Given the description of an element on the screen output the (x, y) to click on. 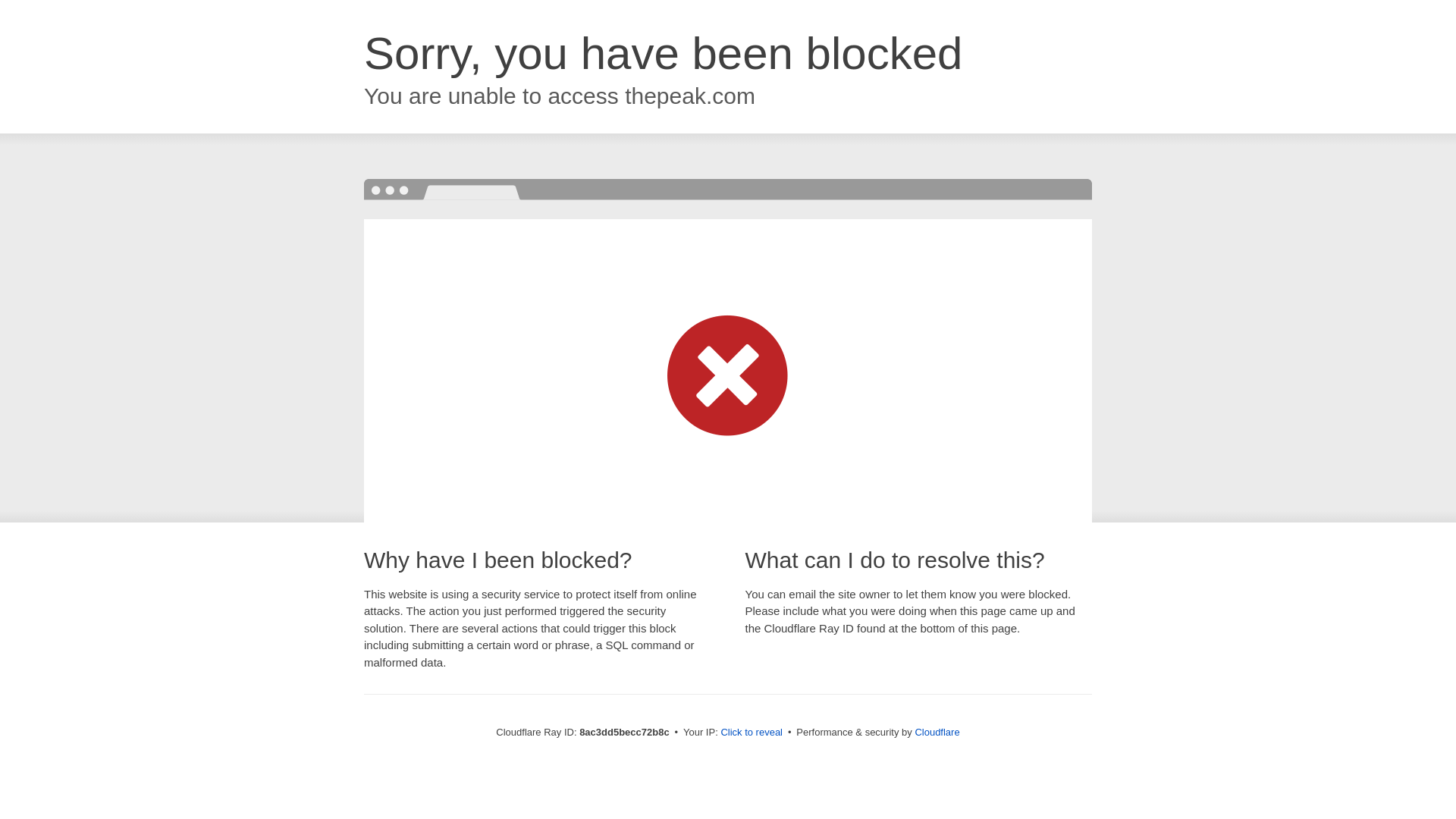
Cloudflare (936, 731)
Click to reveal (751, 732)
